Given the description of an element on the screen output the (x, y) to click on. 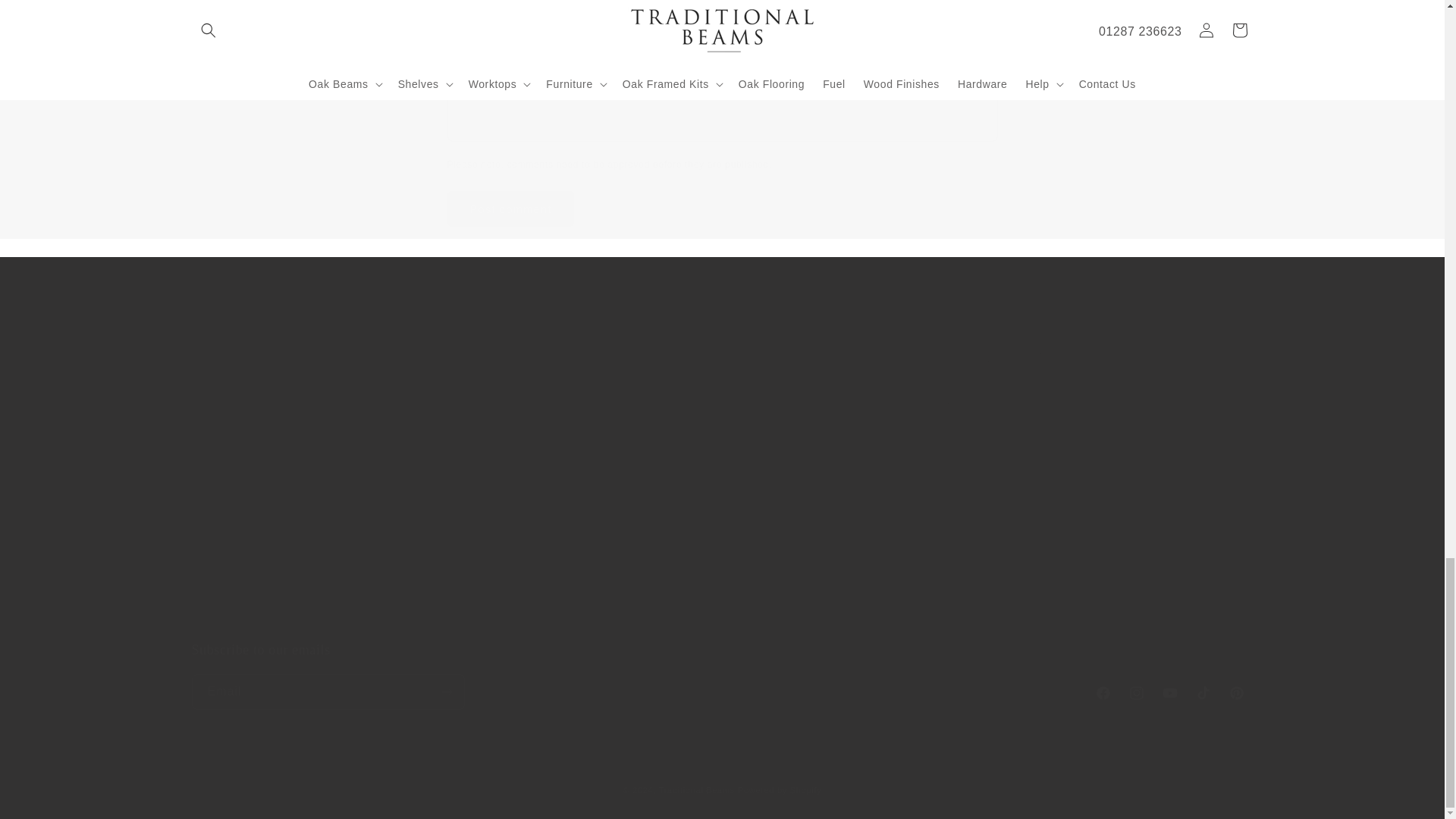
Post comment (510, 208)
tel:01287-236623 (957, 599)
